Given the description of an element on the screen output the (x, y) to click on. 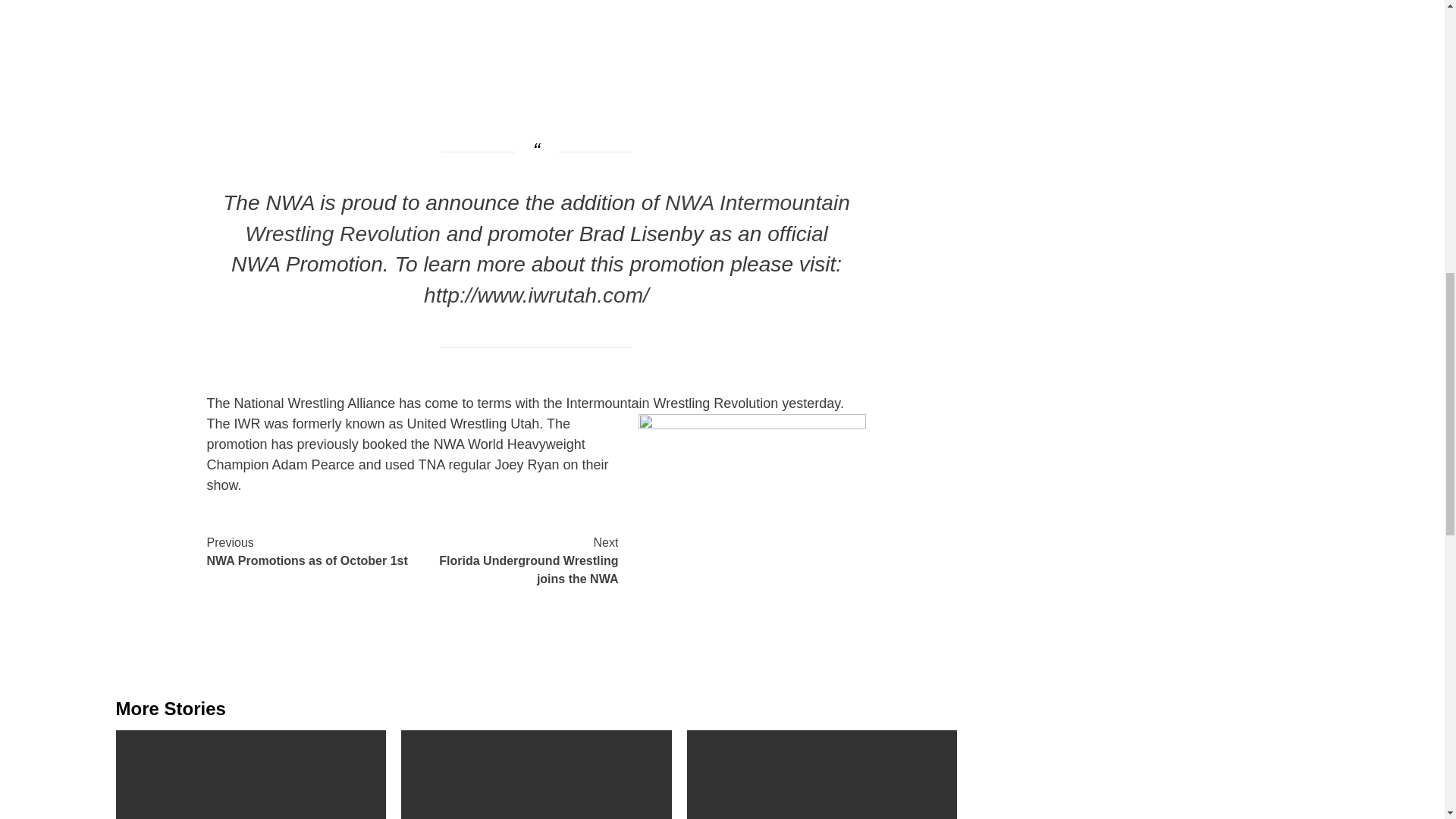
NWA Intermountain Wrestling Revolution (547, 217)
IWR (752, 475)
